Given the description of an element on the screen output the (x, y) to click on. 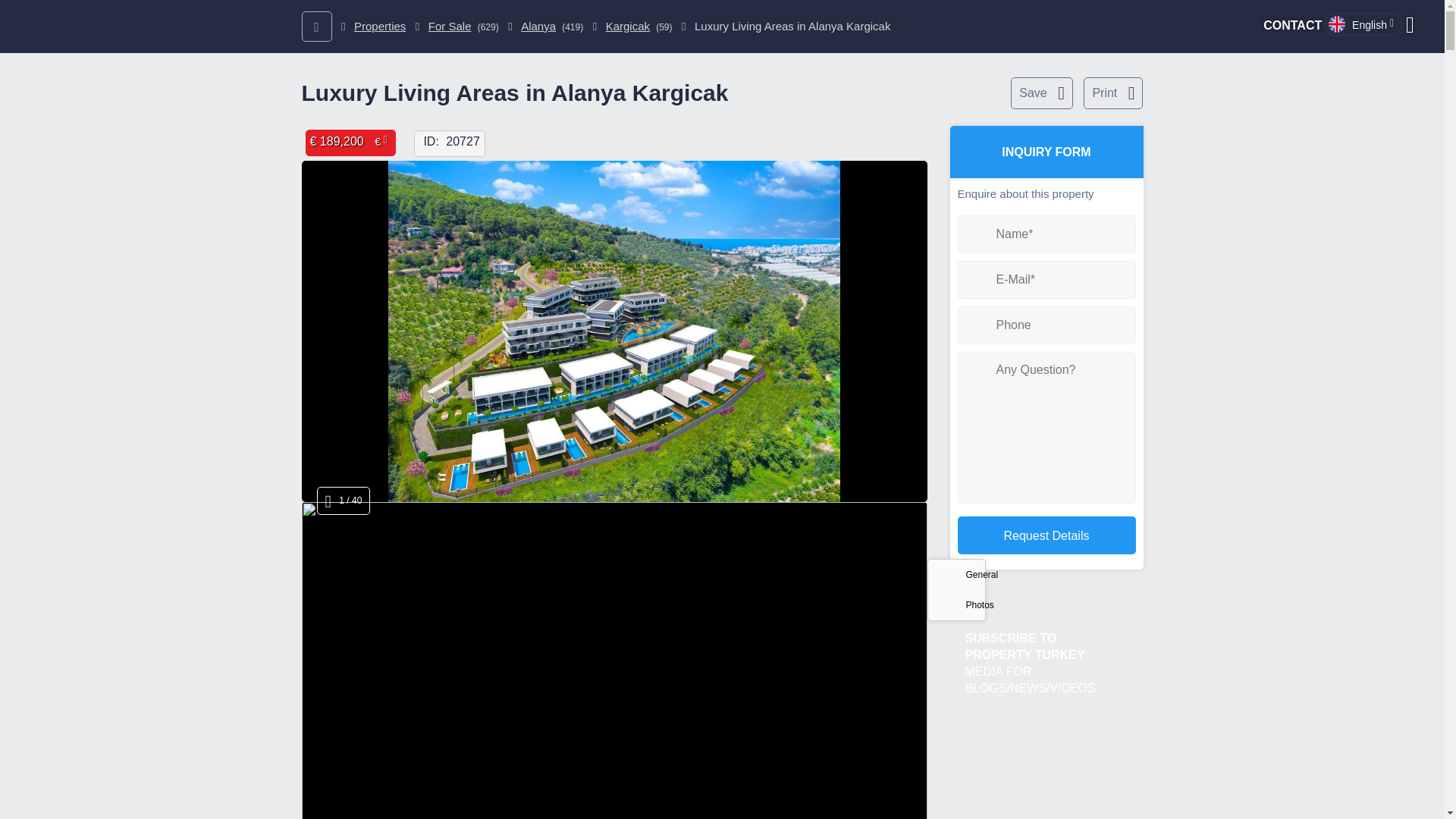
General Photos (955, 589)
CONTACT (1292, 24)
Request Details (1045, 534)
